Given the description of an element on the screen output the (x, y) to click on. 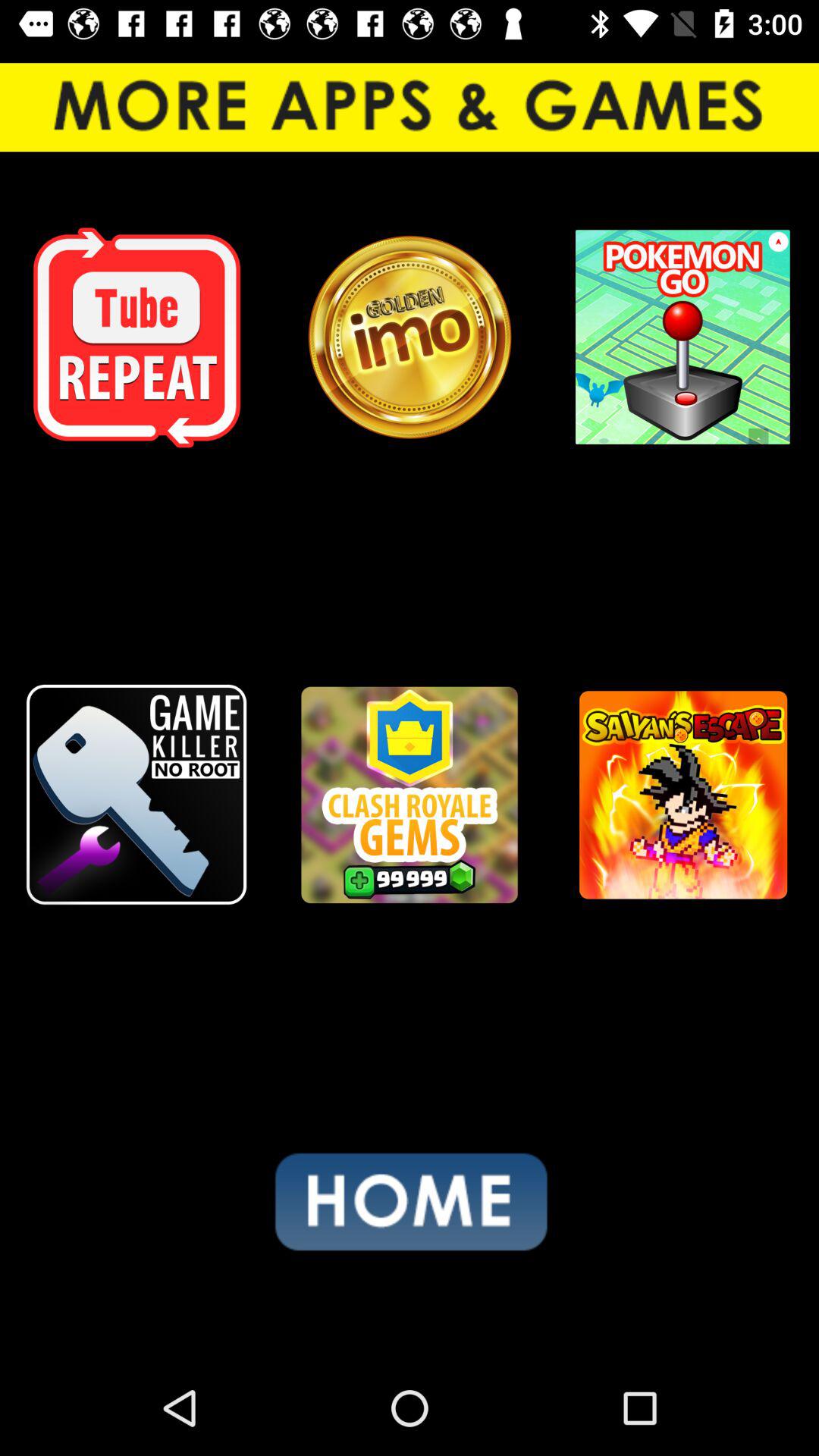
turn off the item at the center (409, 794)
